Given the description of an element on the screen output the (x, y) to click on. 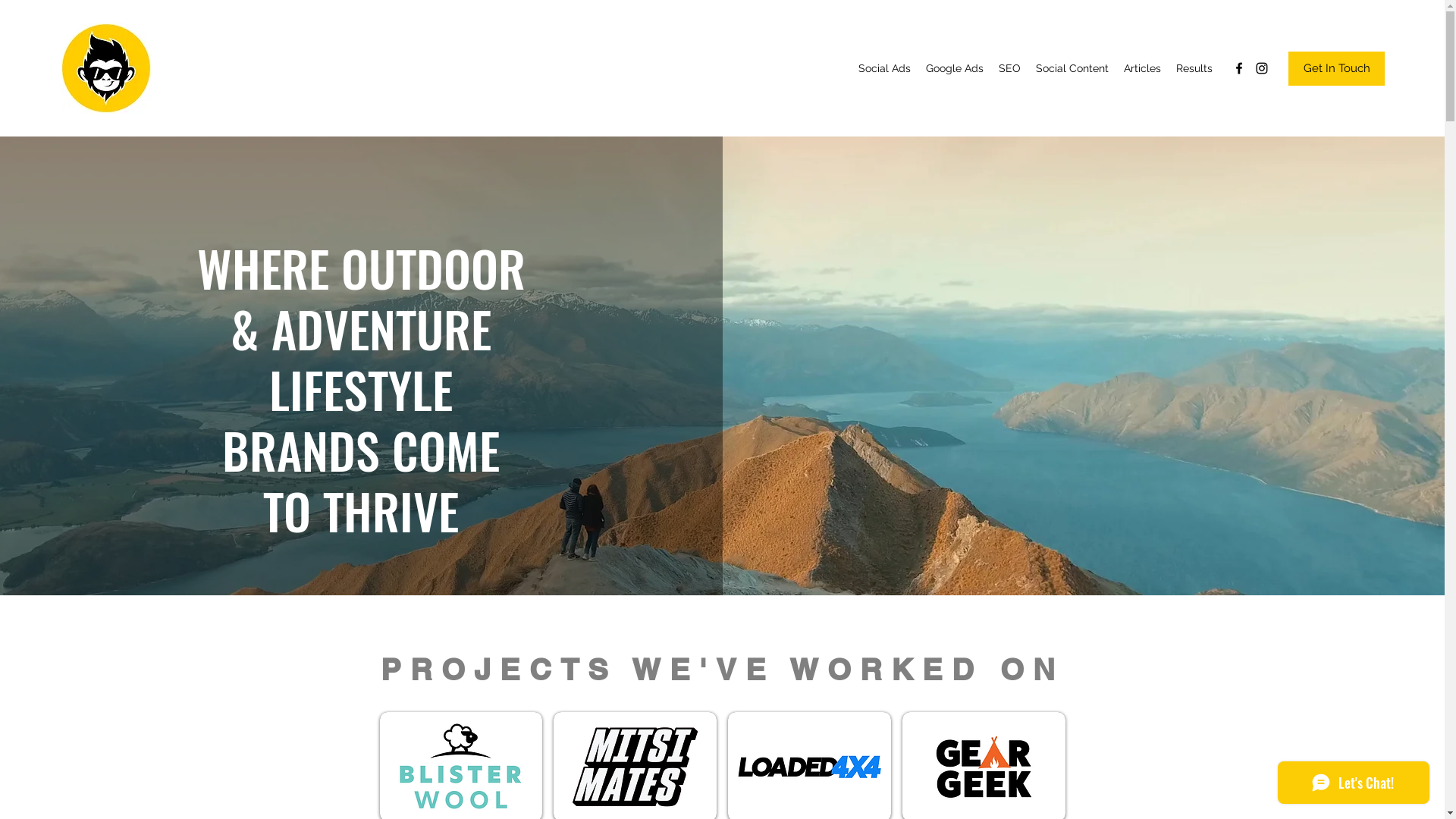
Get In Touch Element type: text (1336, 68)
Articles Element type: text (1142, 67)
SEO Element type: text (1009, 67)
Google Ads Element type: text (954, 67)
Social Ads Element type: text (884, 67)
Social Content Element type: text (1072, 67)
Results Element type: text (1194, 67)
